Given the description of an element on the screen output the (x, y) to click on. 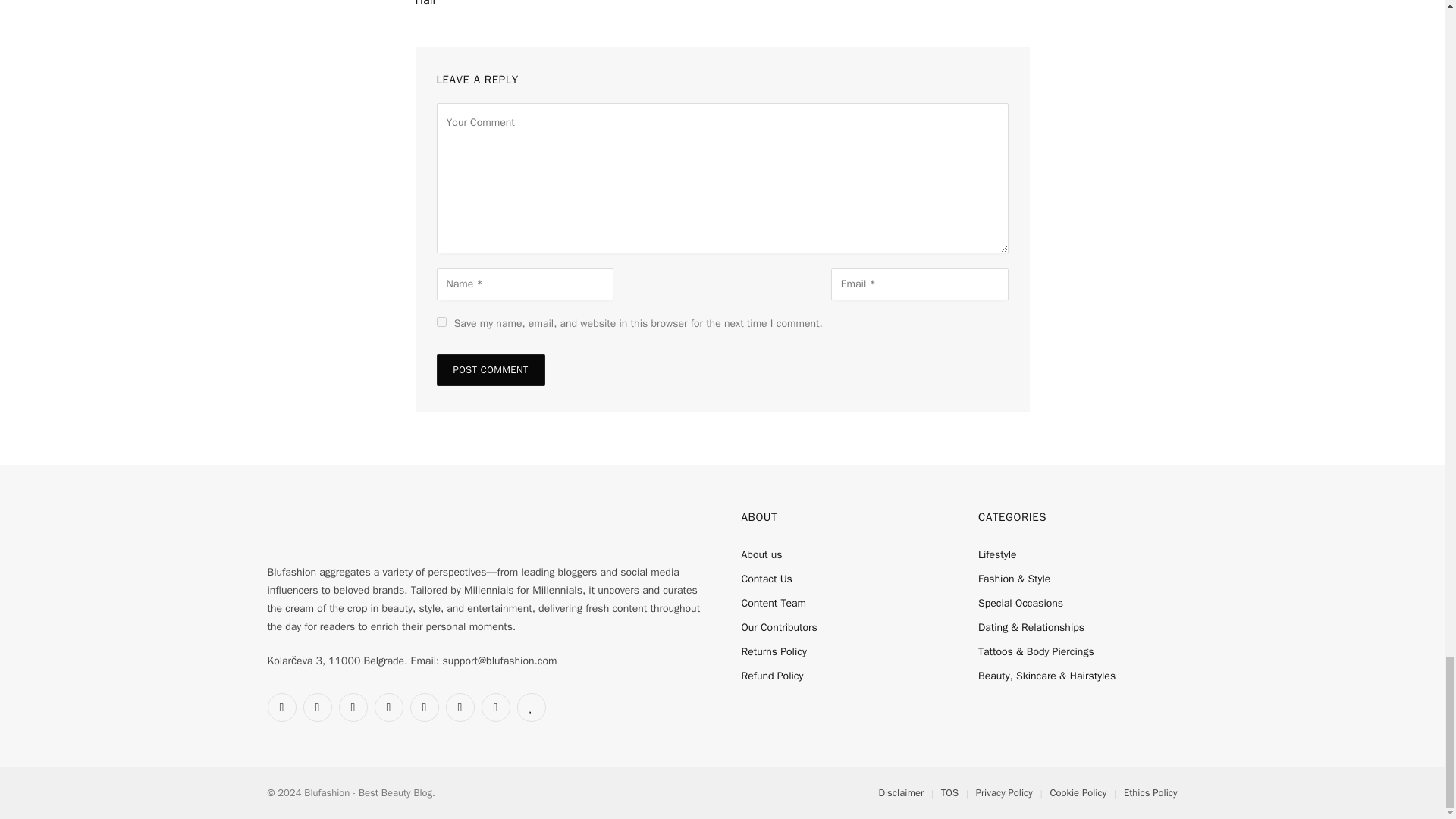
Post Comment (490, 369)
yes (441, 321)
